Given the description of an element on the screen output the (x, y) to click on. 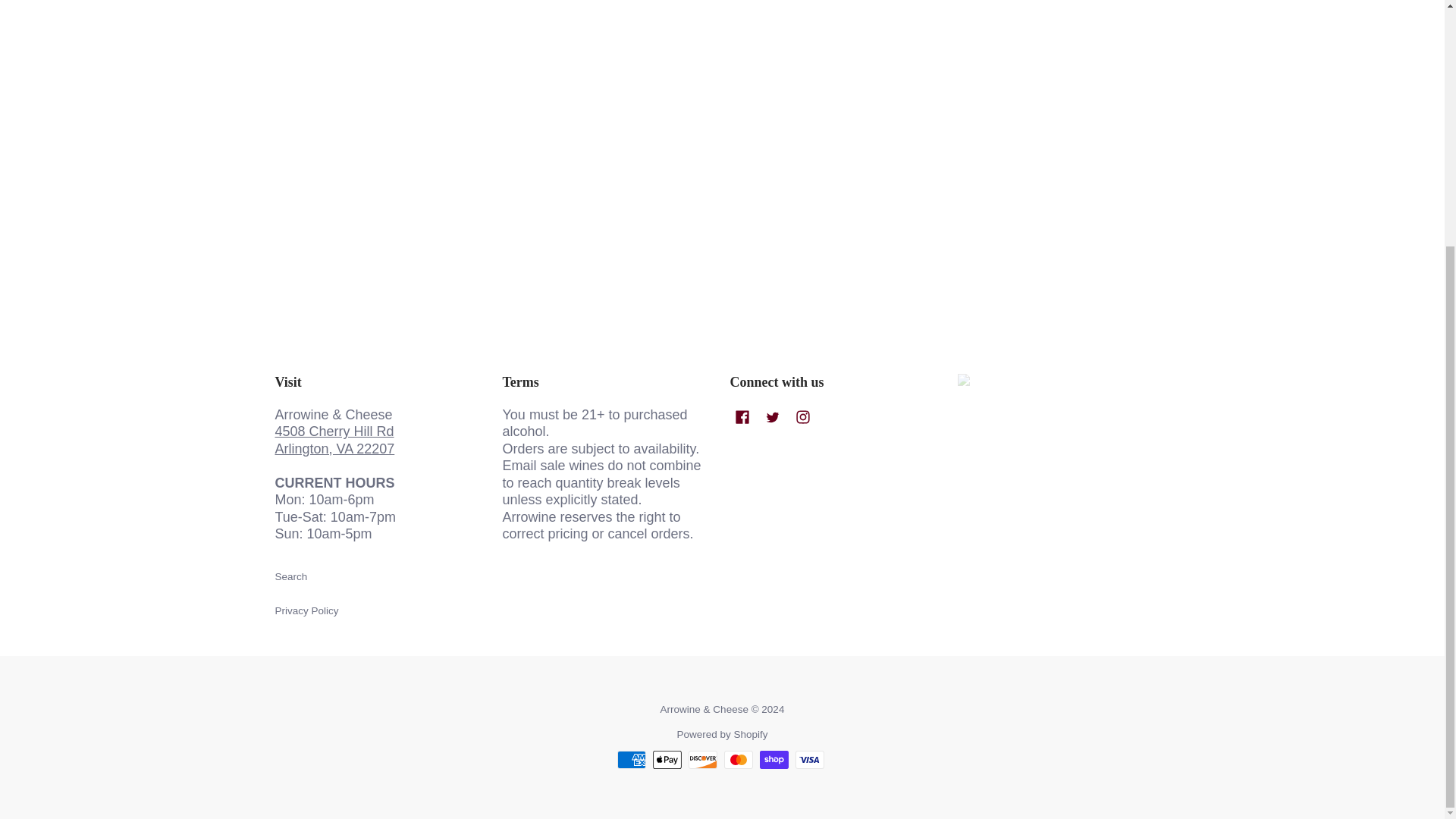
American Express (631, 760)
Discover (702, 760)
Apple Pay (666, 760)
Mastercard (737, 760)
Shop Pay (774, 760)
Visa (809, 760)
